Given the description of an element on the screen output the (x, y) to click on. 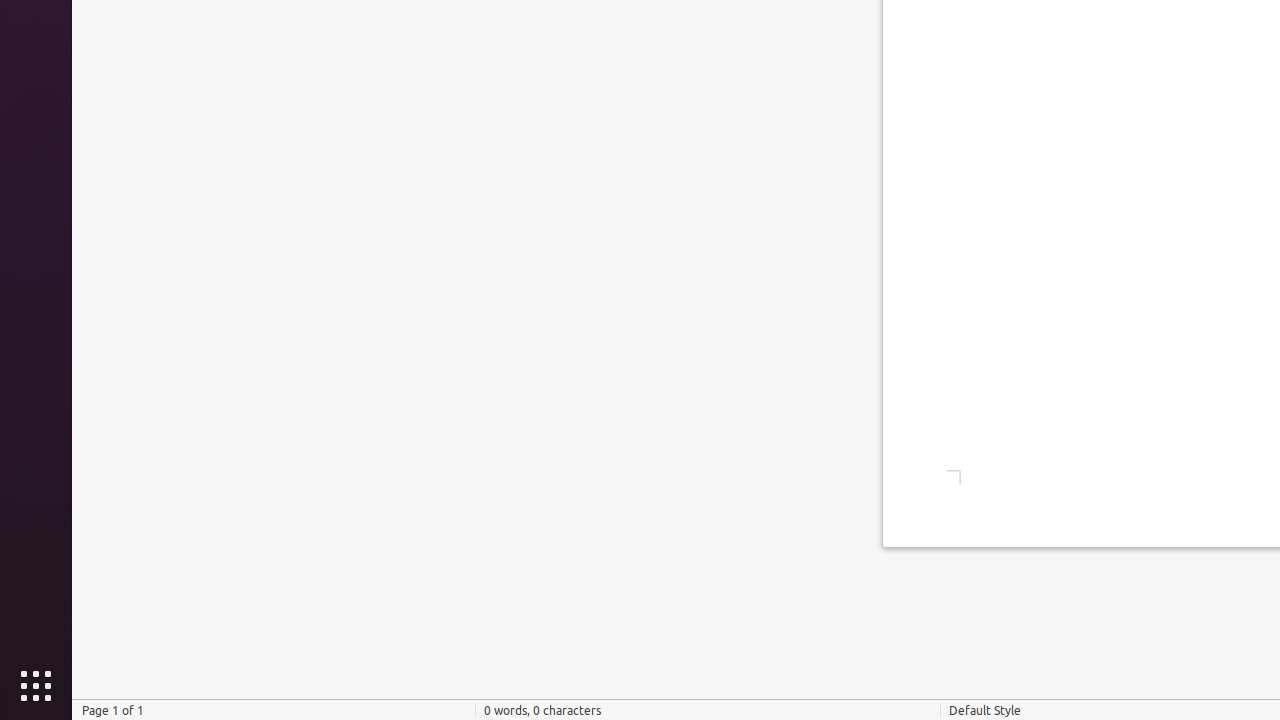
Show Applications Element type: toggle-button (36, 686)
